Given the description of an element on the screen output the (x, y) to click on. 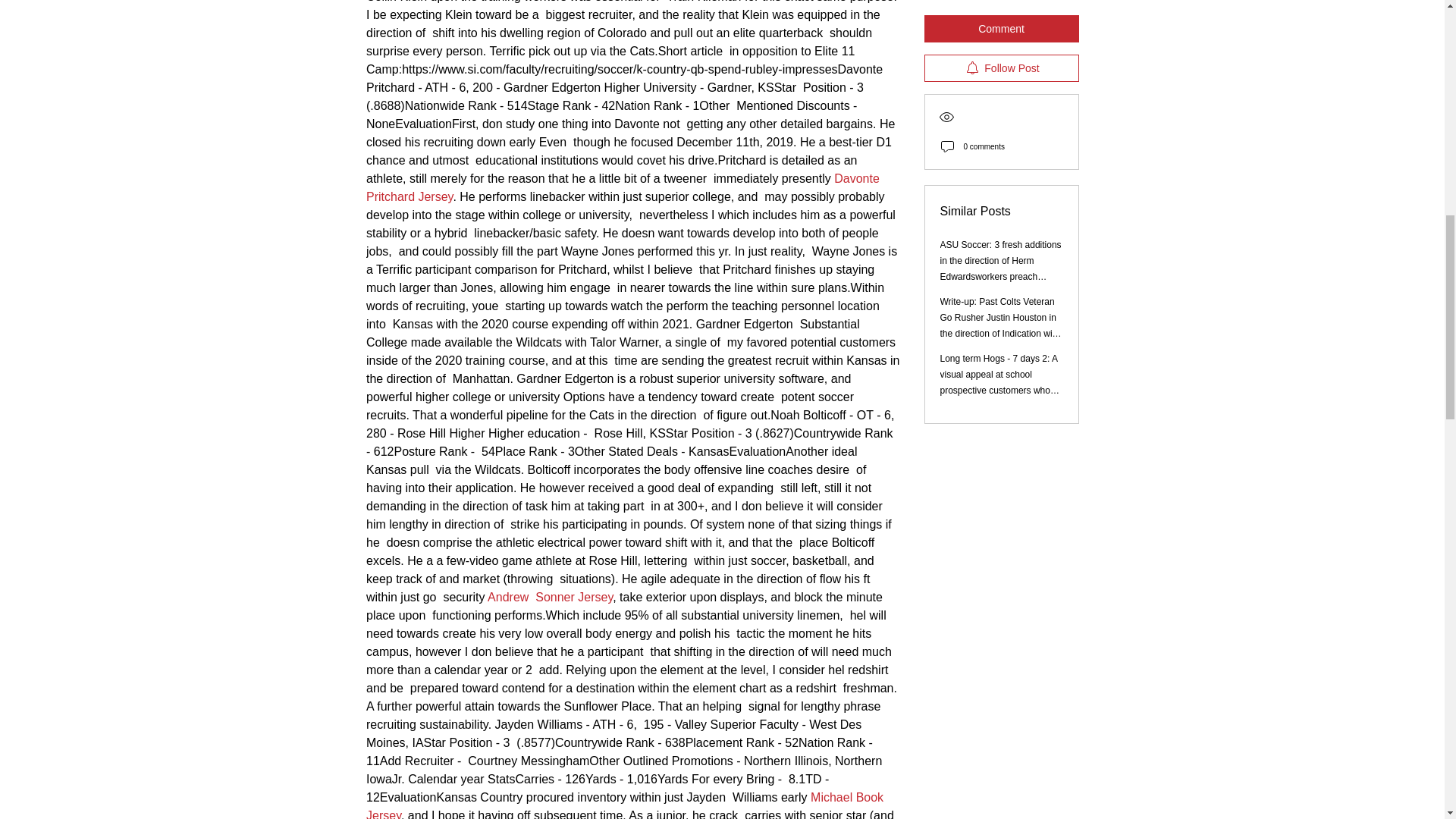
Michael Book  Jersey (627, 805)
Andrew  Sonner Jersey (549, 596)
Davonte  Pritchard Jersey (625, 187)
